Given the description of an element on the screen output the (x, y) to click on. 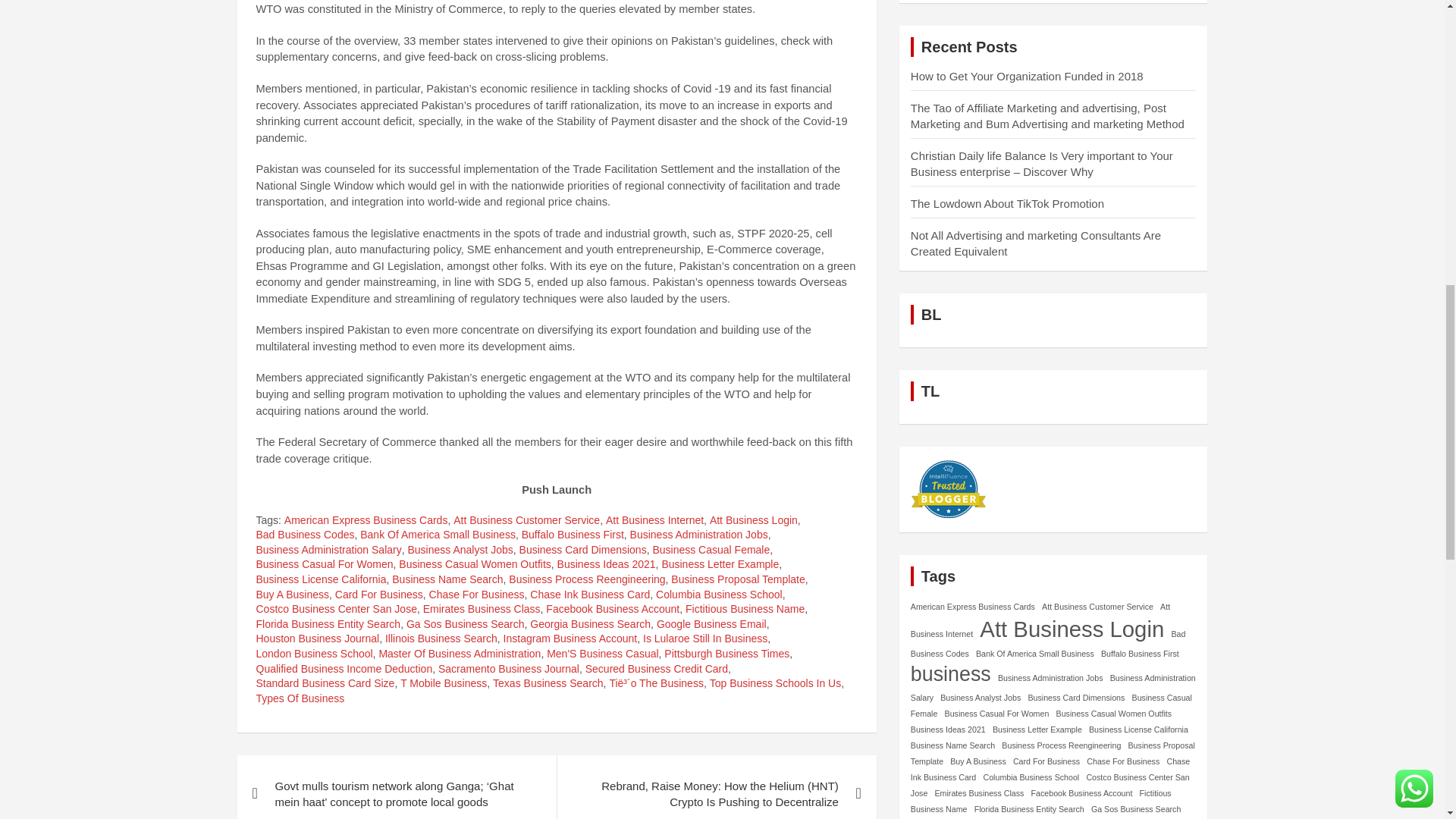
Att Business Login (753, 520)
Business Letter Example (719, 564)
Business Administration Jobs (699, 534)
Business Proposal Template (738, 580)
Business Card Dimensions (582, 549)
Business Analyst Jobs (459, 549)
Business Administration Salary (328, 549)
Bank Of America Small Business (437, 534)
Att Business Internet (654, 520)
Bad Business Codes (305, 534)
Business Casual Female (711, 549)
Business Casual Women Outfits (474, 564)
Business Ideas 2021 (606, 564)
Buffalo Business First (572, 534)
Business Process Reengineering (586, 580)
